Given the description of an element on the screen output the (x, y) to click on. 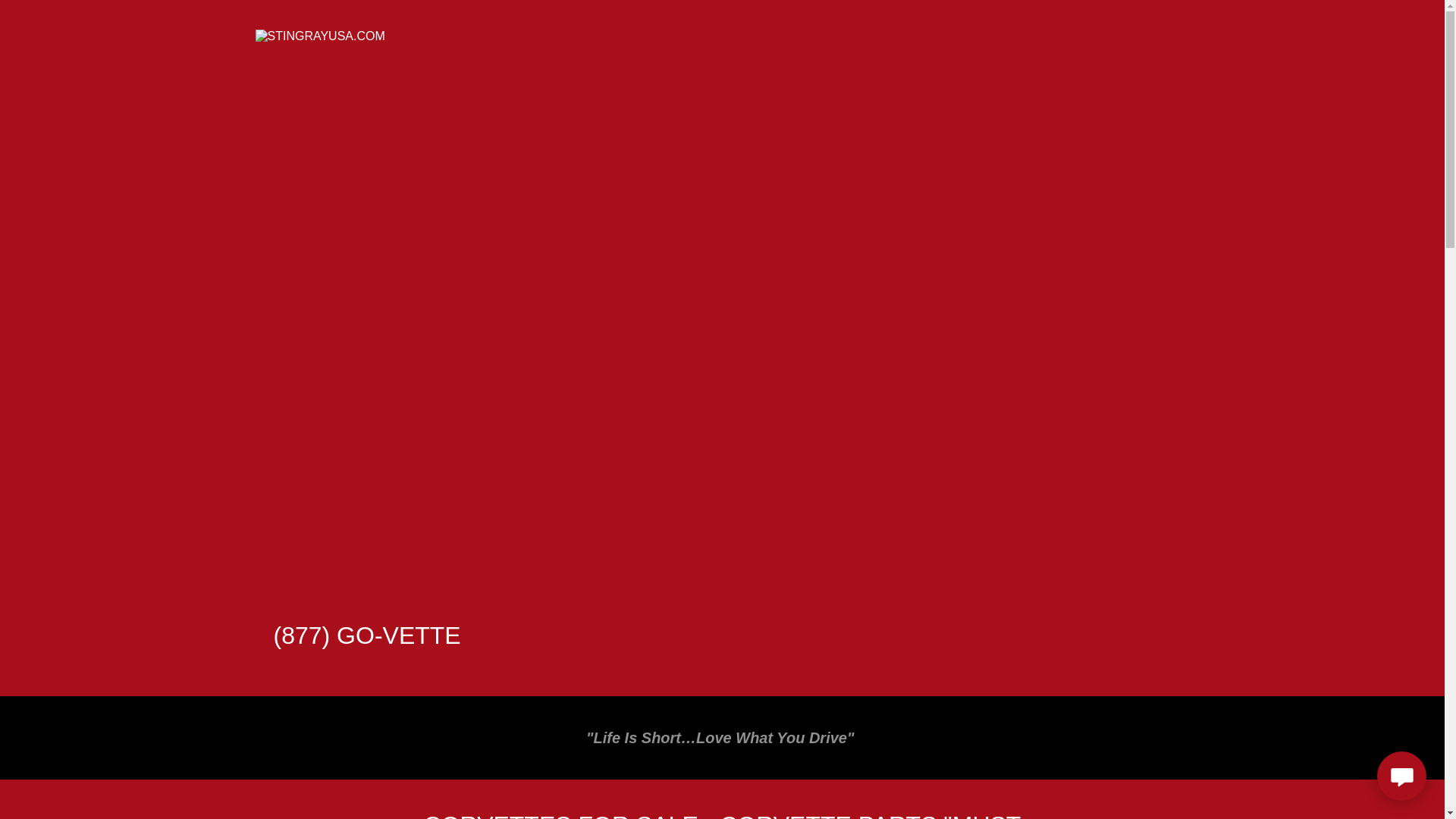
STINGRAYUSA.COM (319, 34)
